Given the description of an element on the screen output the (x, y) to click on. 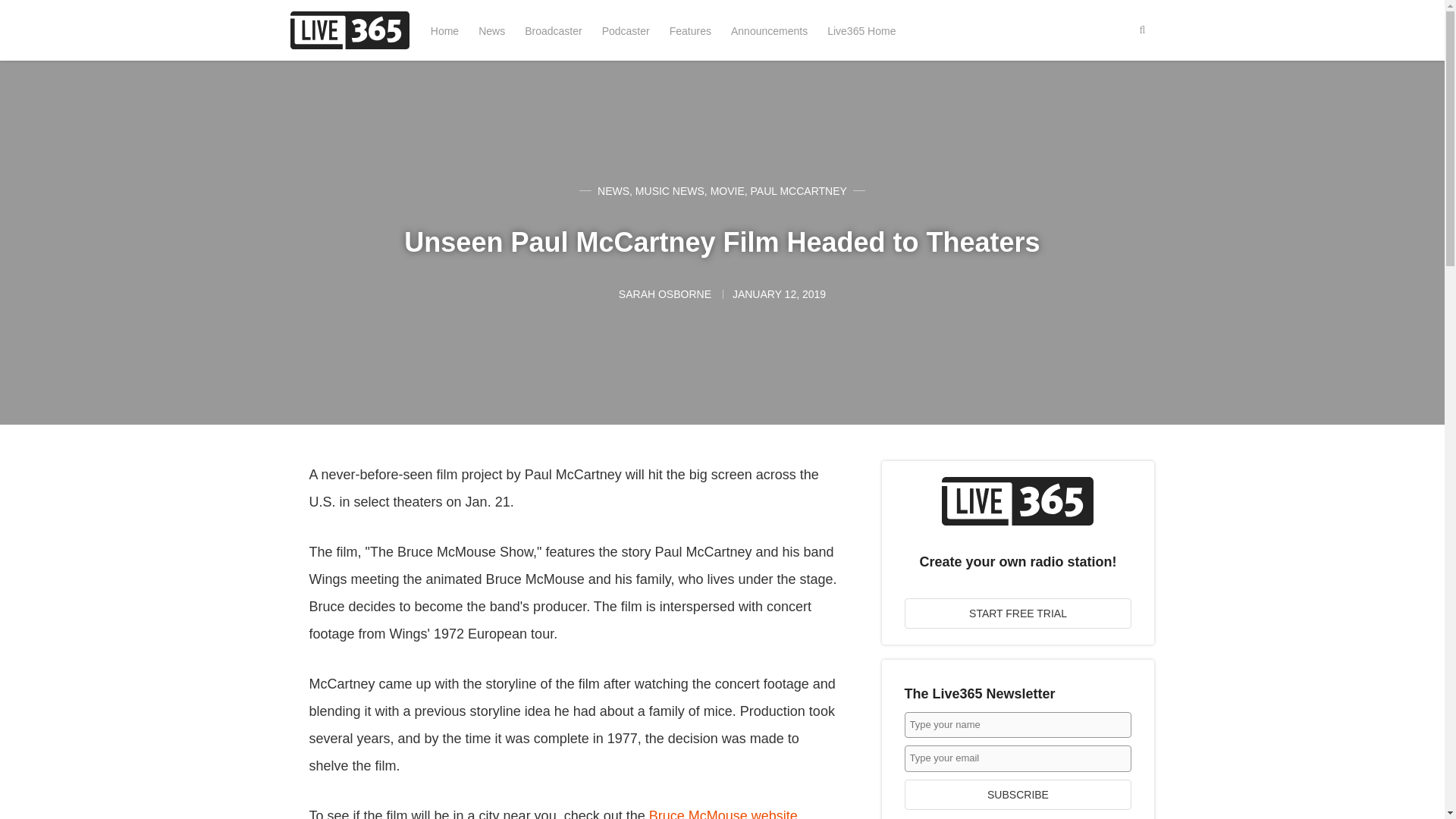
Announcements (769, 30)
News (492, 30)
Podcaster (625, 30)
SARAH OSBORNE (666, 294)
Bruce McMouse website (723, 813)
Live365 Home (861, 30)
Home (444, 30)
NEWS (612, 191)
MOVIE (727, 191)
START FREE TRIAL (1017, 613)
